Given the description of an element on the screen output the (x, y) to click on. 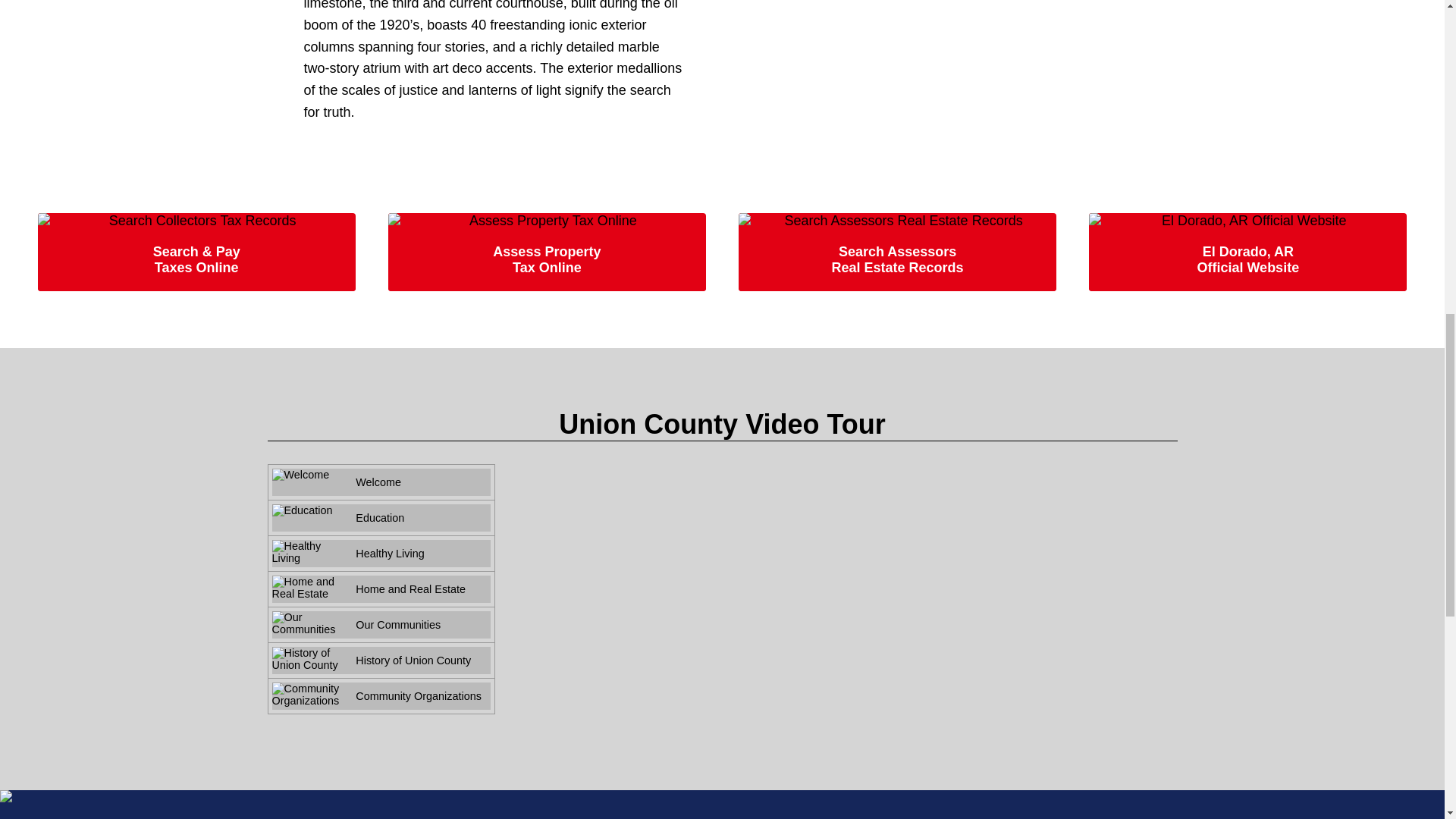
Healthy Living (379, 553)
Community Organizations (379, 696)
Our Communities (379, 624)
Welcome (379, 482)
History of Union County (379, 659)
Education (379, 516)
Home and Real Estate (379, 587)
